Given the description of an element on the screen output the (x, y) to click on. 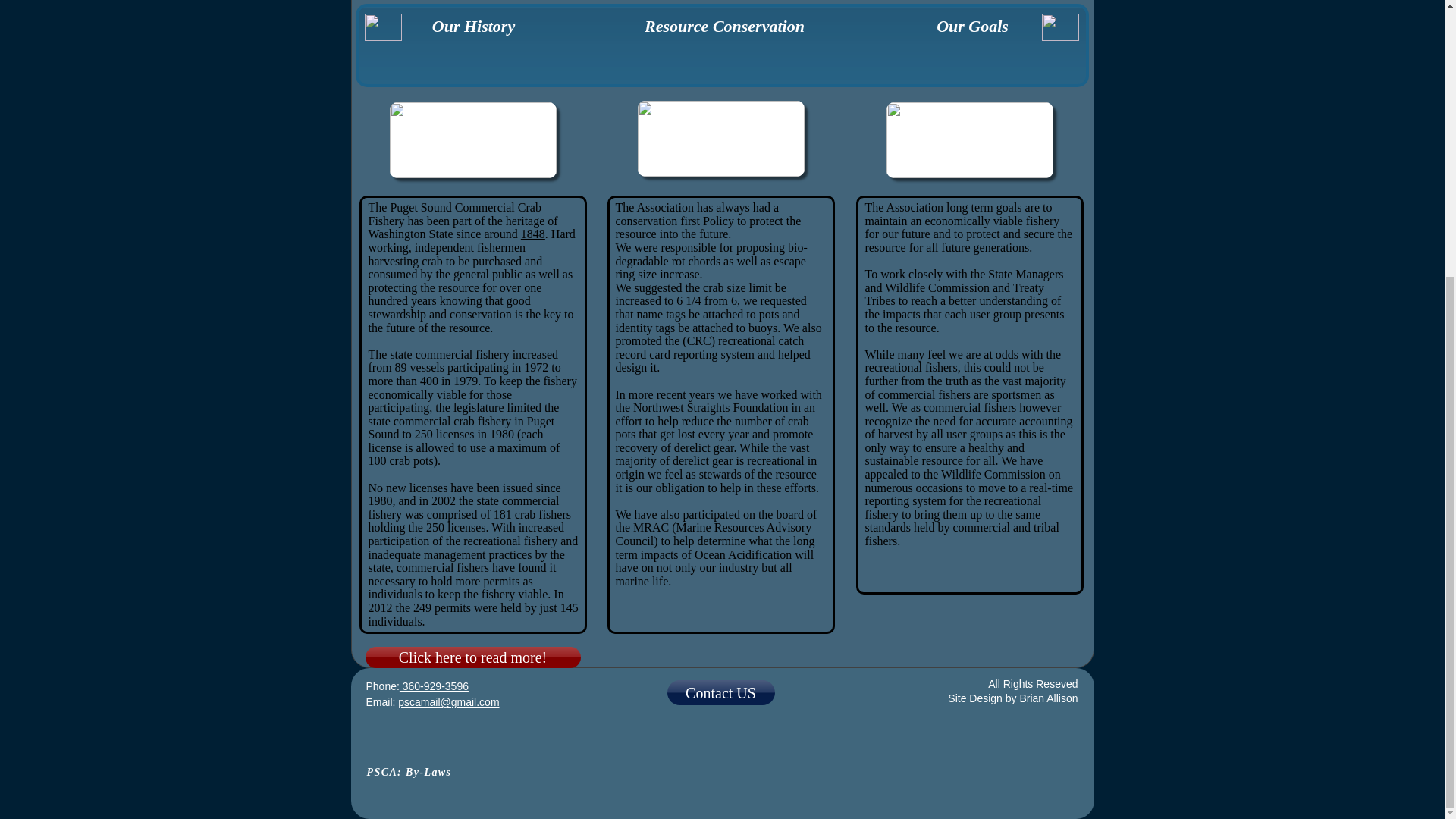
logo.png (1060, 26)
Dungeness Crab (968, 140)
mt baker (473, 140)
sunrise over skagit bay (720, 138)
Phone: 360-929-3596 (416, 686)
PSCA: By-Laws (408, 771)
Facebook Like (720, 757)
Click here to read more! (472, 657)
Contact US (720, 692)
logo.png (382, 26)
